Given the description of an element on the screen output the (x, y) to click on. 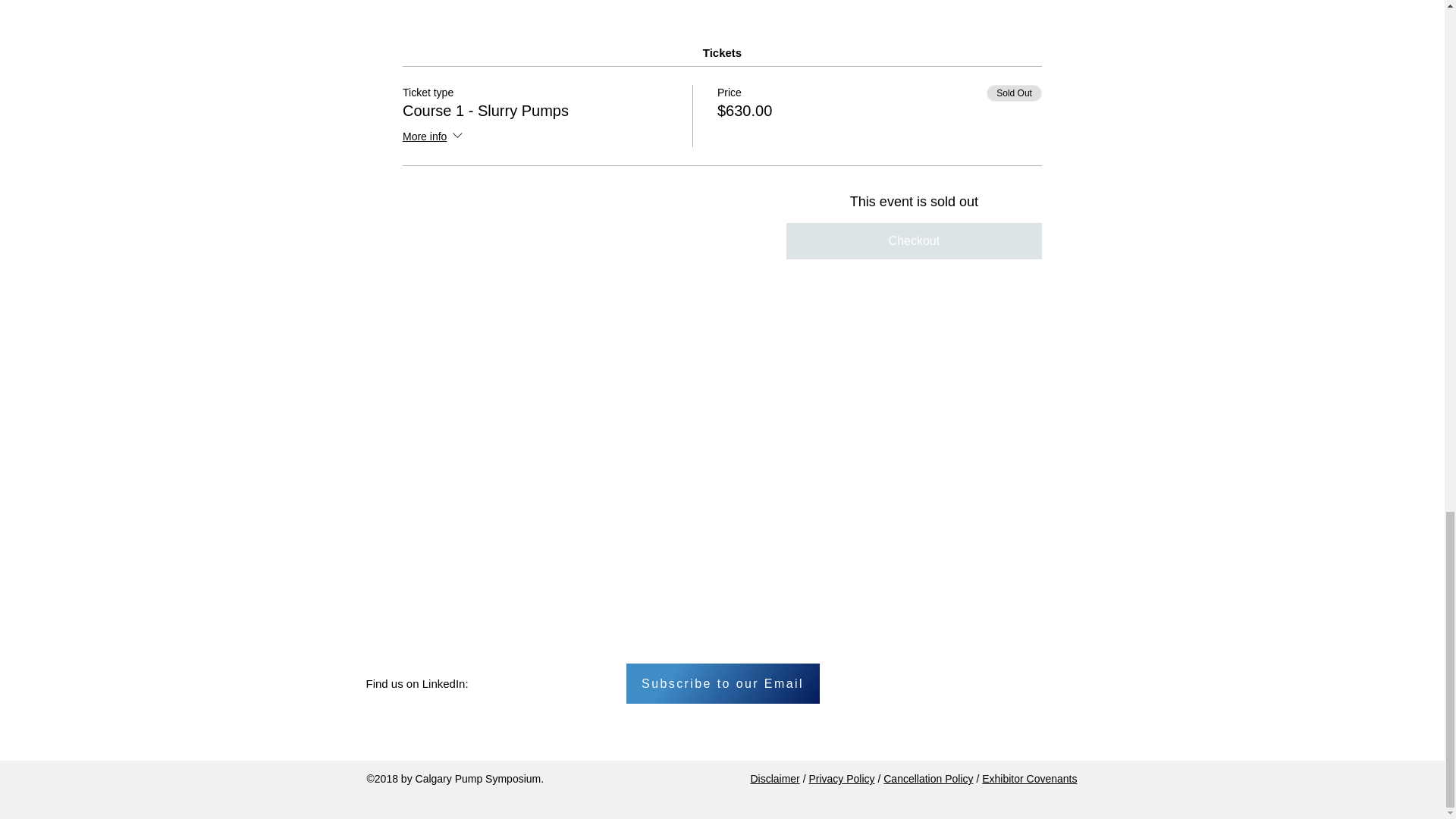
Privacy Policy (841, 778)
More info (434, 137)
Checkout (914, 240)
Disclaimer (774, 778)
Exhibitor Covenants (1029, 778)
Cancellation Policy (927, 778)
Subscribe to our Email (722, 683)
